Given the description of an element on the screen output the (x, y) to click on. 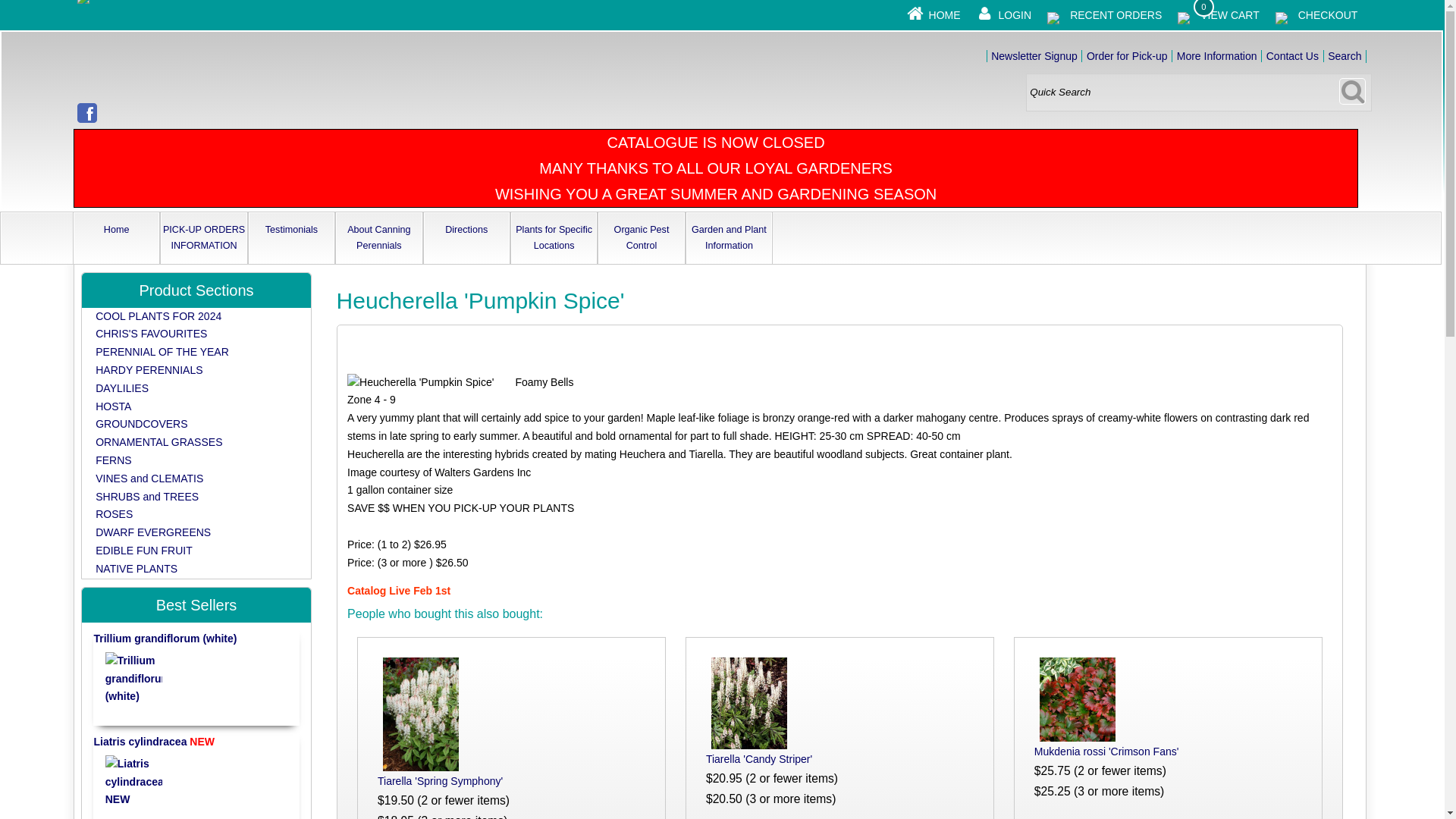
Newsletter Signup (1034, 55)
More Information (1216, 55)
Go! (1352, 90)
COOL PLANTS FOR 2024 (158, 316)
Mukdenia rossi 'Crimson Fans' (1106, 751)
PICK-UP ORDERS INFORMATION (203, 237)
HOME (944, 15)
Garden and Plant Information (728, 237)
GROUNDCOVERS (141, 423)
CHRIS'S FAVOURITES (151, 333)
Go! (1352, 90)
HARDY PERENNIALS (149, 369)
HOSTA (113, 406)
RECENT ORDERS (1115, 15)
CHECKOUT (1328, 15)
